Given the description of an element on the screen output the (x, y) to click on. 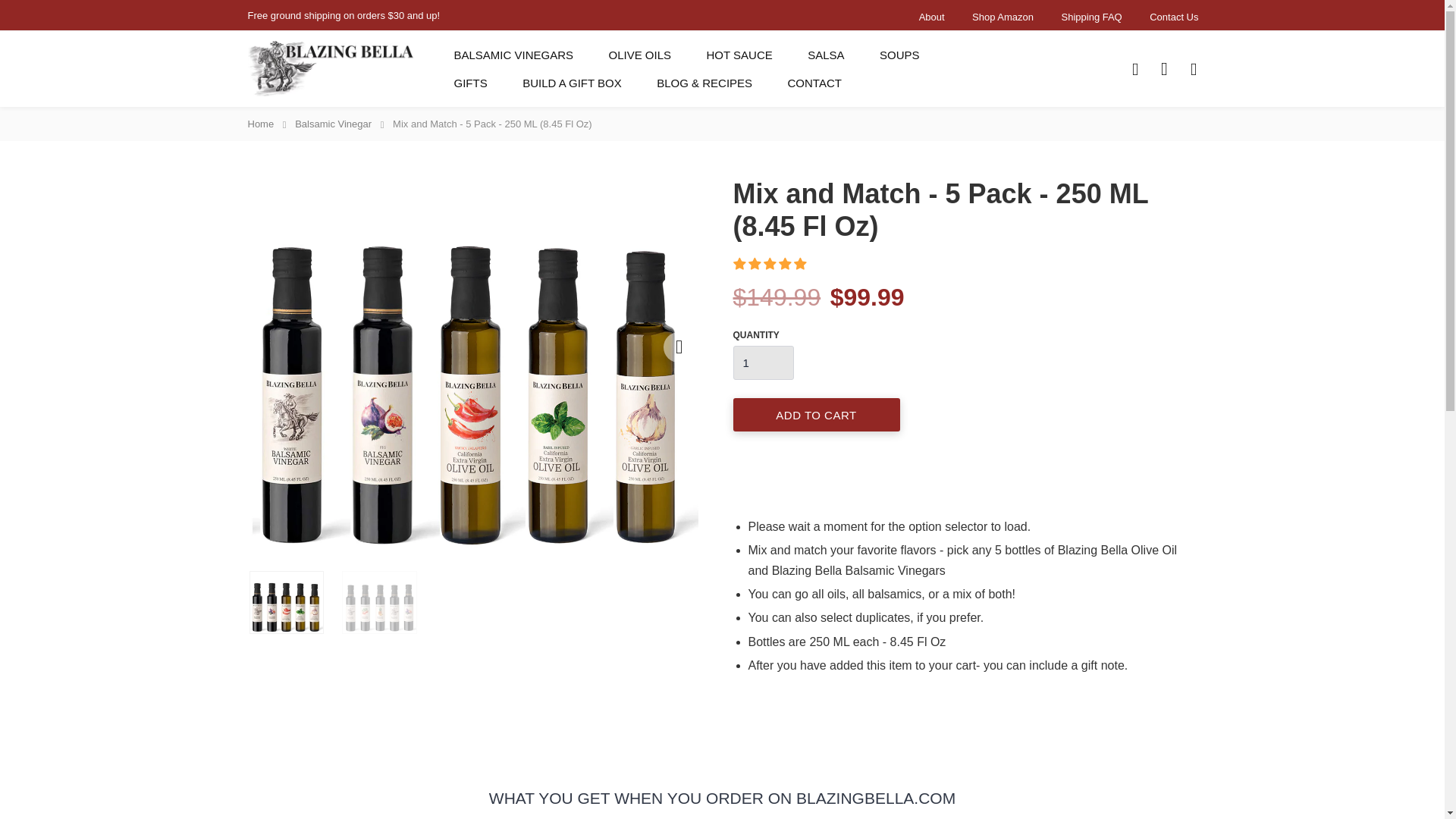
Shop Amazon (1002, 17)
Next (677, 347)
SALSA (825, 54)
ADD TO CART (815, 414)
GIFTS (470, 82)
CONTACT (814, 82)
Blazing Bella Balsamic Vinegar and Olive Oils (330, 68)
Balsamic Vinegar (334, 124)
BALSAMIC VINEGARS (513, 54)
Shipping FAQ (1091, 17)
